Given the description of an element on the screen output the (x, y) to click on. 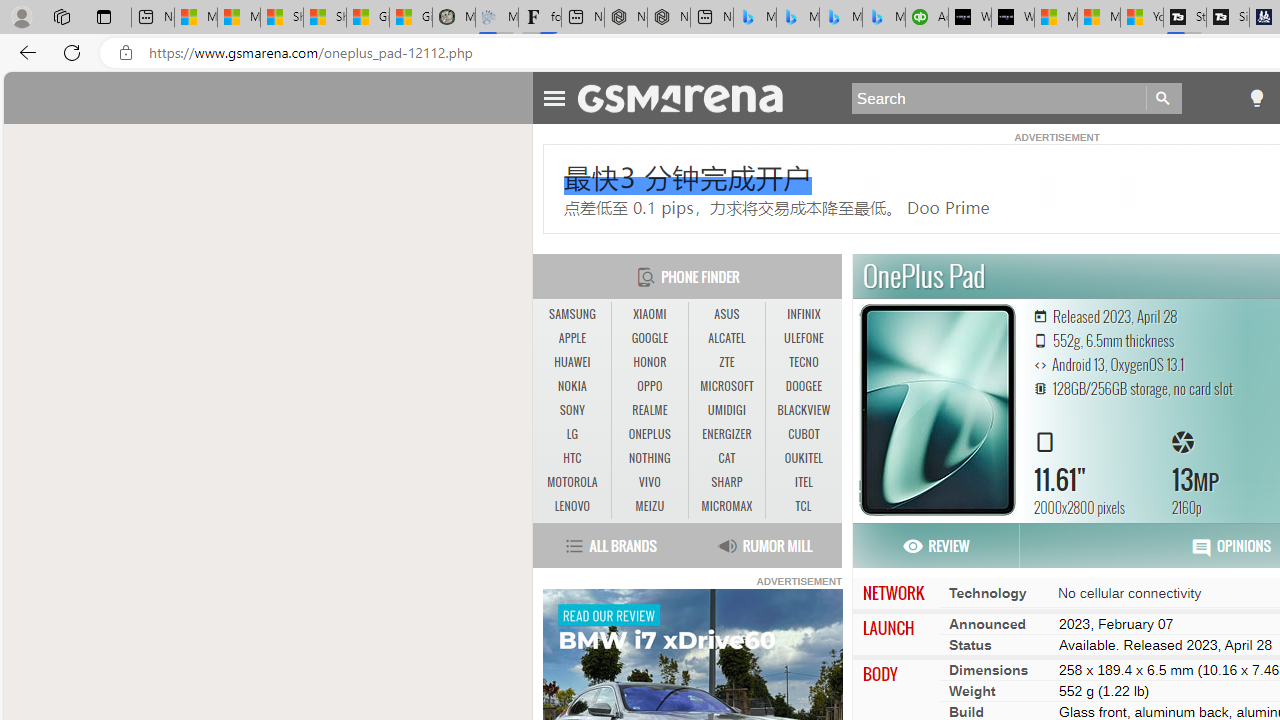
XIAOMI (649, 313)
DOOGEE (803, 386)
NOKIA (571, 386)
OUKITEL (803, 458)
ONEPLUS (649, 434)
Nordace - #1 Japanese Best-Seller - Siena Smart Backpack (668, 17)
SHARP (726, 483)
Microsoft Bing Travel - Stays in Bangkok, Bangkok, Thailand (798, 17)
ALCATEL (726, 338)
SONY (571, 410)
REALME (649, 411)
TECNO (803, 362)
VIVO (649, 483)
